Given the description of an element on the screen output the (x, y) to click on. 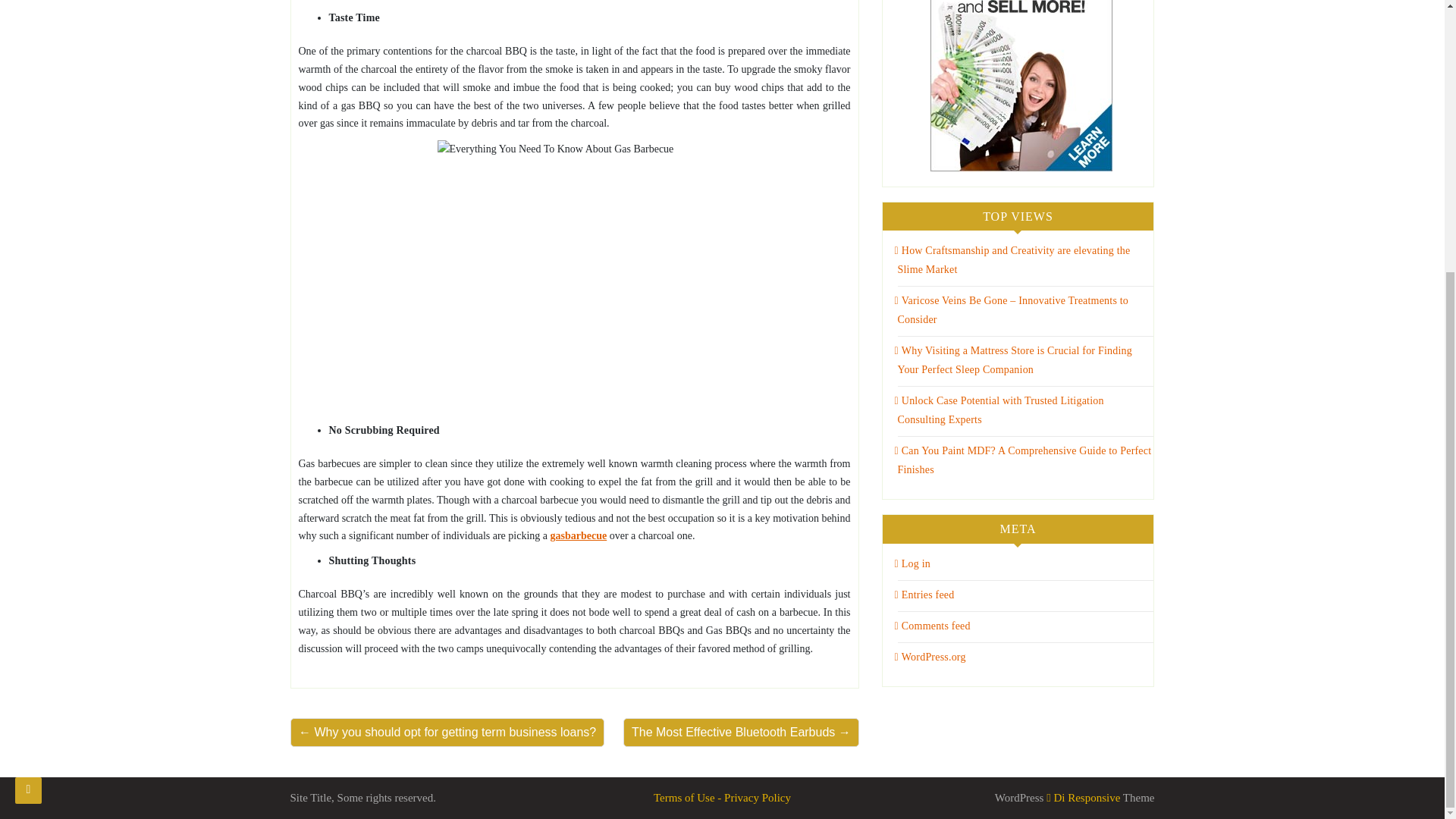
Entries feed (925, 594)
Terms of Use - Privacy Policy (721, 797)
WordPress.org (930, 656)
gasbarbecue (578, 535)
Comments feed (933, 625)
Can You Paint MDF? A Comprehensive Guide to Perfect Finishes (1023, 460)
Di Responsive (1082, 797)
Log in (912, 563)
